Given the description of an element on the screen output the (x, y) to click on. 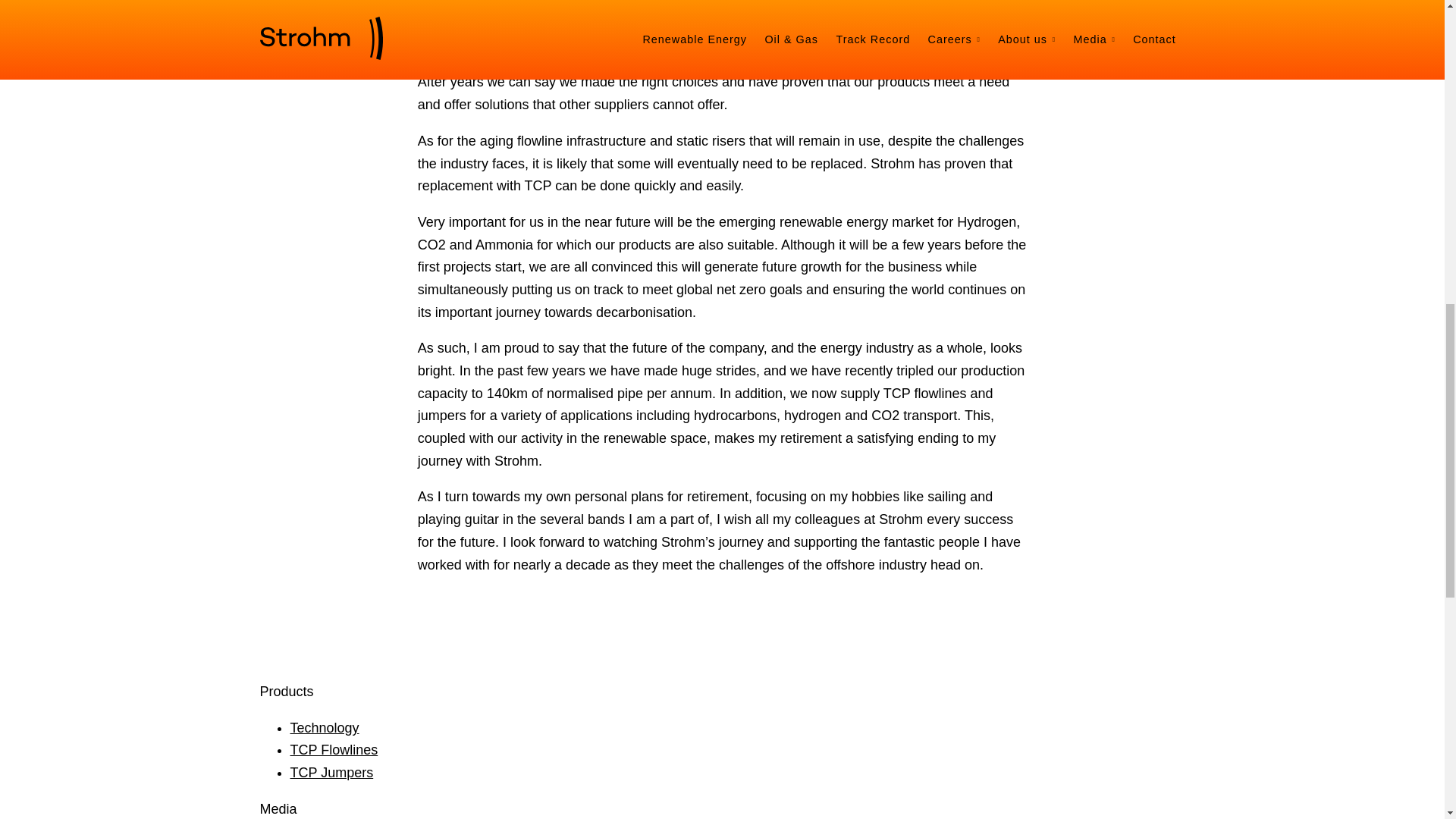
TCP Jumpers (330, 772)
TCP Flowlines (333, 749)
Technology (323, 727)
